Given the description of an element on the screen output the (x, y) to click on. 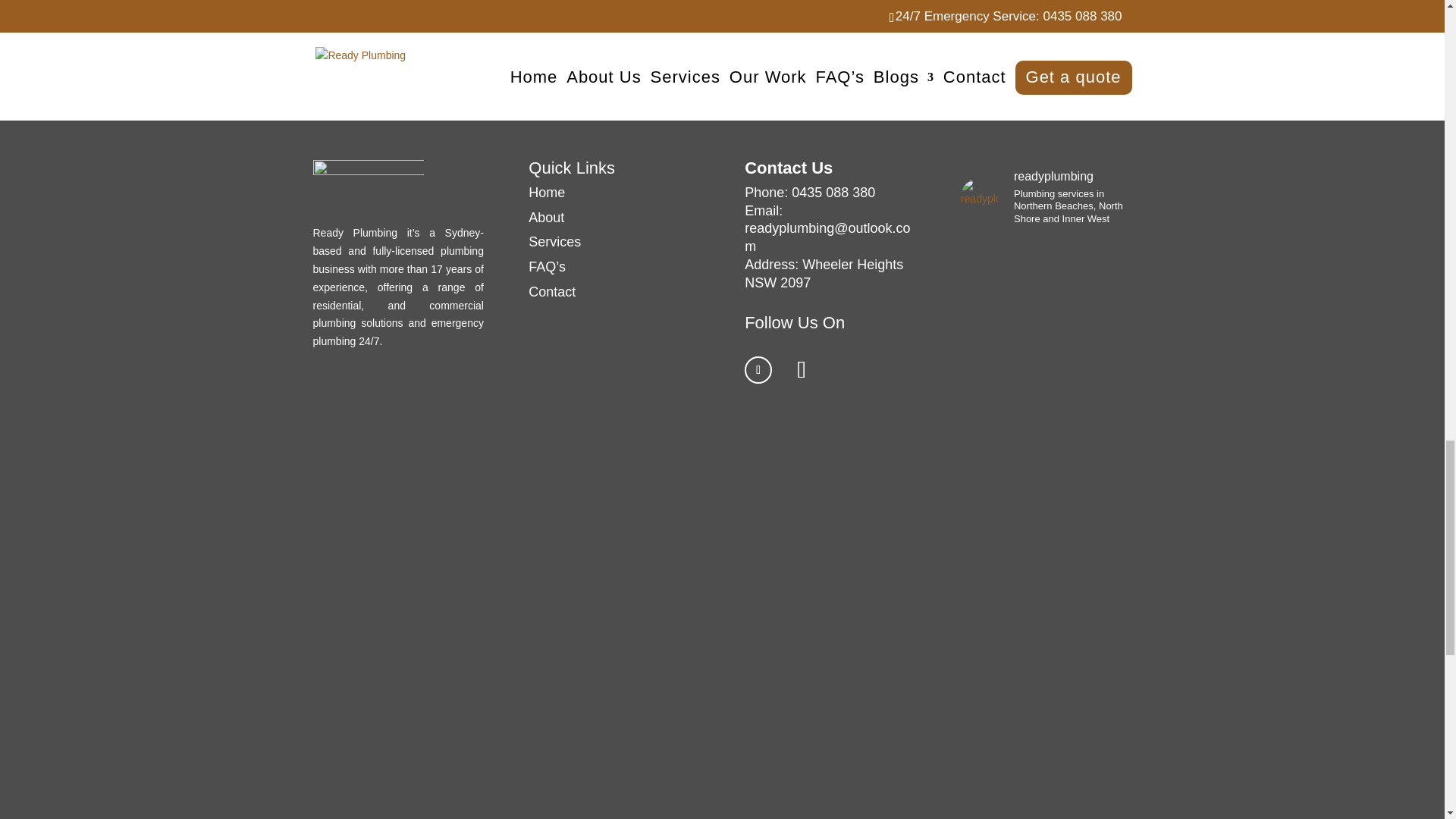
Follow on Facebook (757, 370)
About (546, 217)
Follow on Instagram (801, 369)
Home (546, 192)
Services (554, 241)
Contact (551, 291)
